Given the description of an element on the screen output the (x, y) to click on. 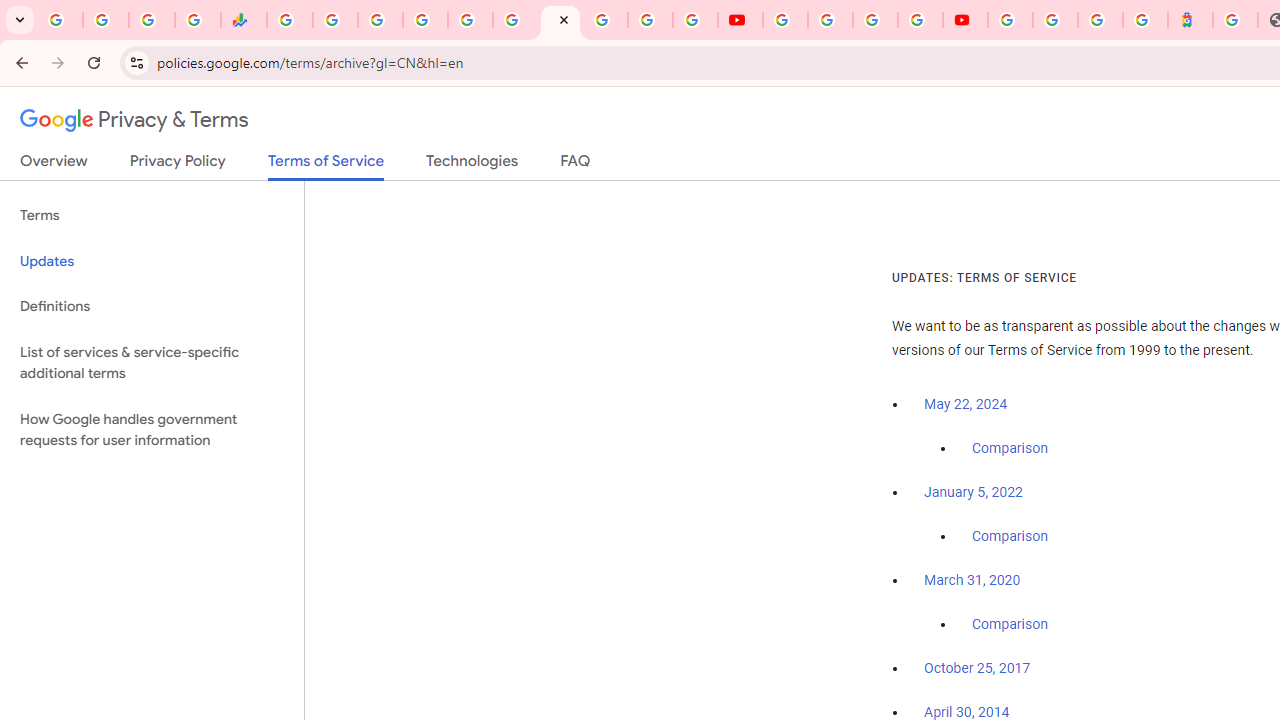
Comparison (1009, 625)
Sign in - Google Accounts (425, 20)
March 31, 2020 (972, 580)
Privacy Checkup (695, 20)
October 25, 2017 (977, 669)
Sign in - Google Accounts (1055, 20)
